Given the description of an element on the screen output the (x, y) to click on. 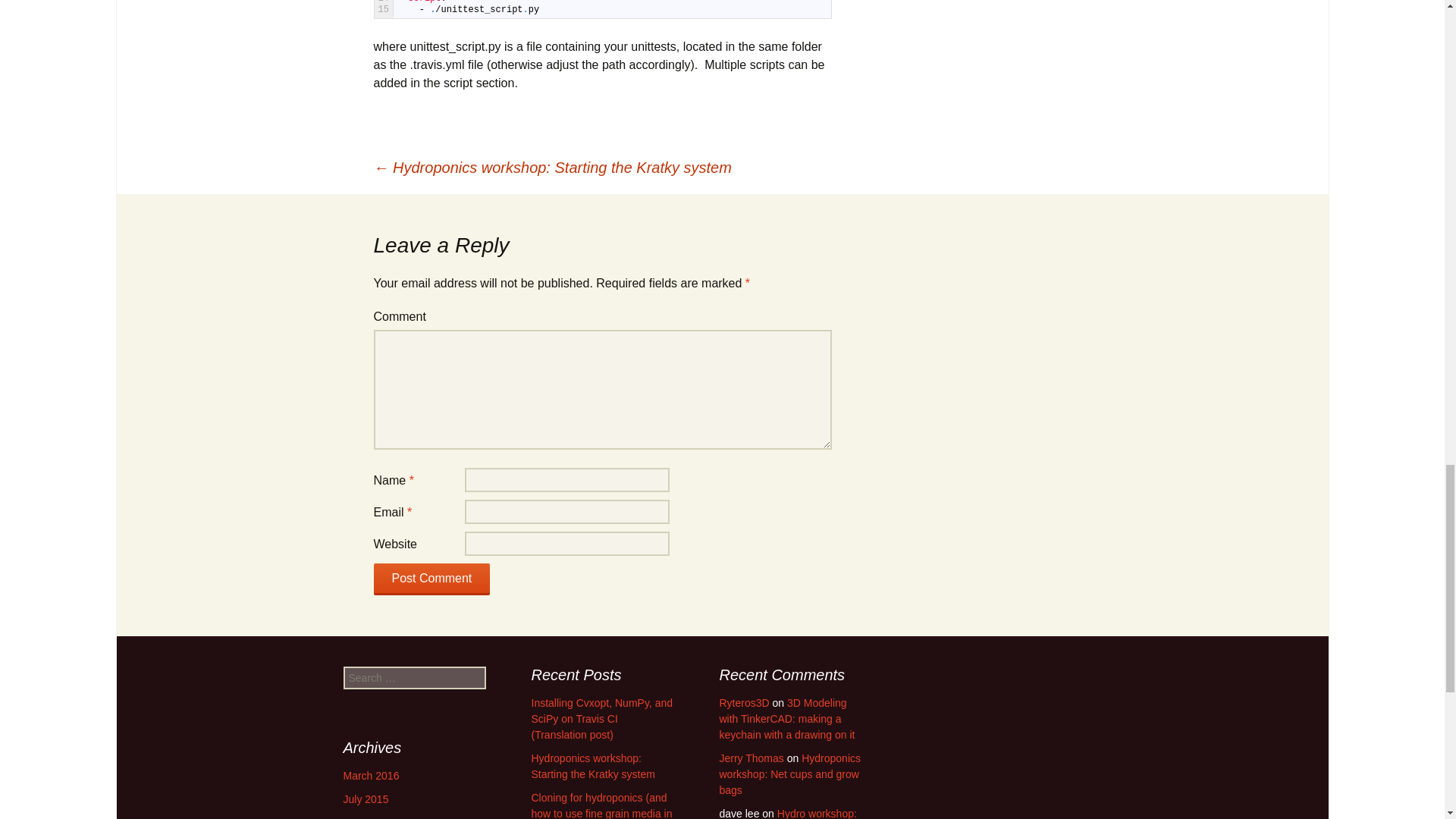
Hydroponics workshop: Starting the Kratky system (592, 766)
March 2016 (370, 775)
May 2015 (365, 817)
July 2015 (365, 799)
Post Comment (430, 579)
Hydroponics workshop: Net cups and grow bags (789, 774)
Post Comment (430, 579)
Jerry Thomas (751, 758)
Ryteros3D (743, 702)
